Given the description of an element on the screen output the (x, y) to click on. 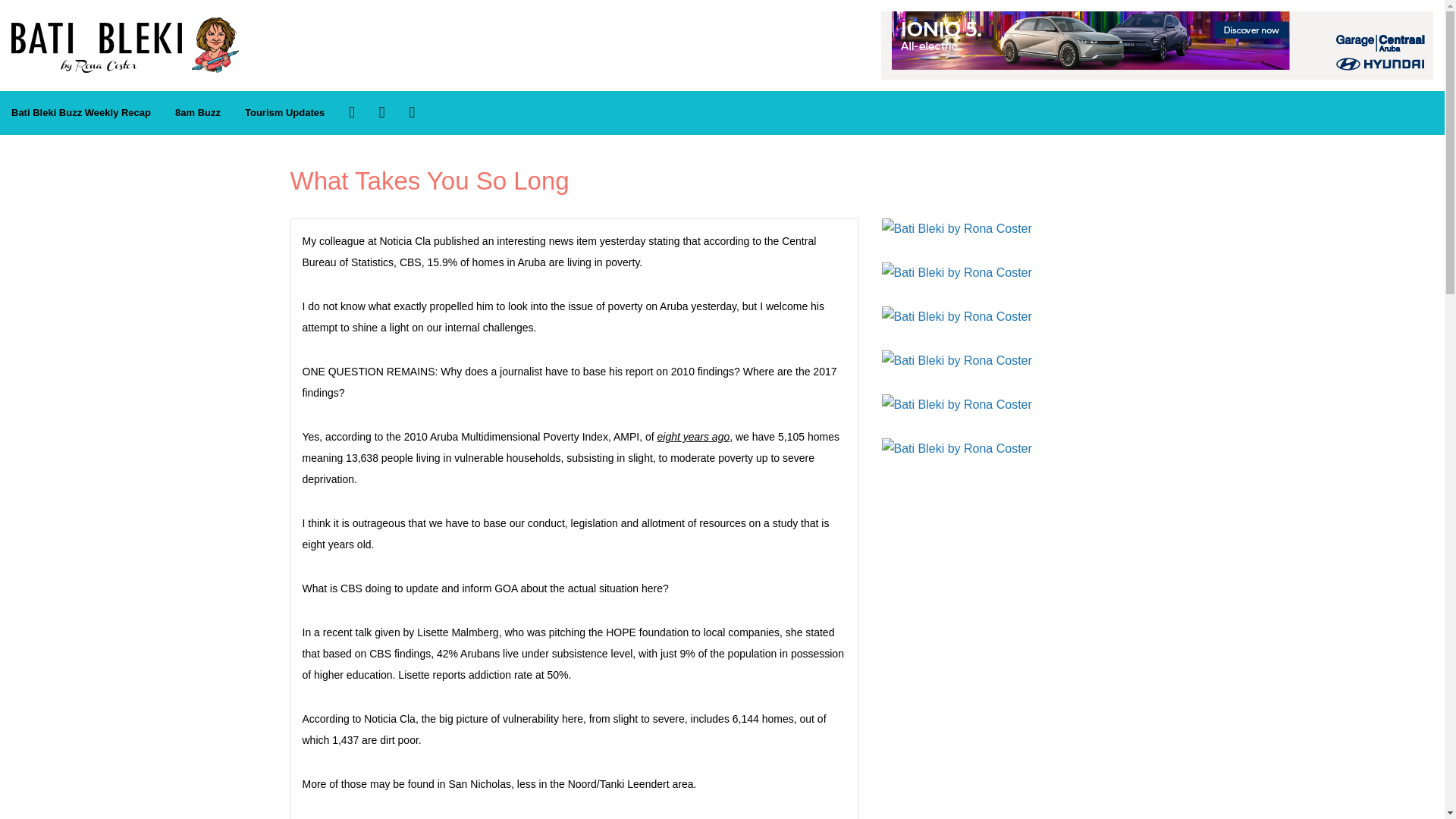
Go to my Facebook Page (351, 112)
Download app in Google Play (411, 112)
Bati Bleki Buzz Weekly Recap (80, 112)
Go to homepage (124, 25)
Download app in App Store (382, 112)
Tourism Updates (284, 112)
8am Buzz (197, 112)
